Given the description of an element on the screen output the (x, y) to click on. 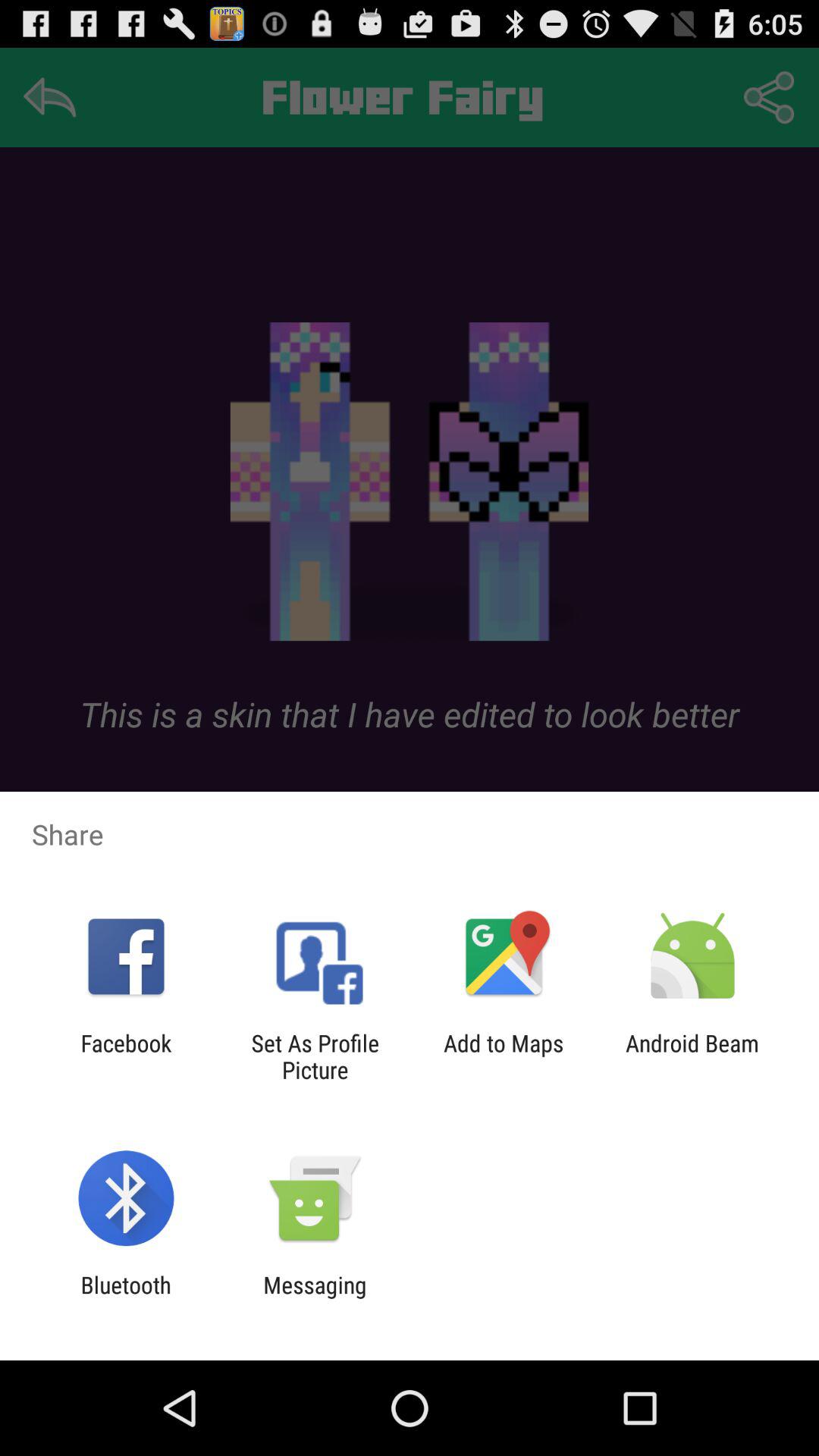
swipe to facebook icon (125, 1056)
